Given the description of an element on the screen output the (x, y) to click on. 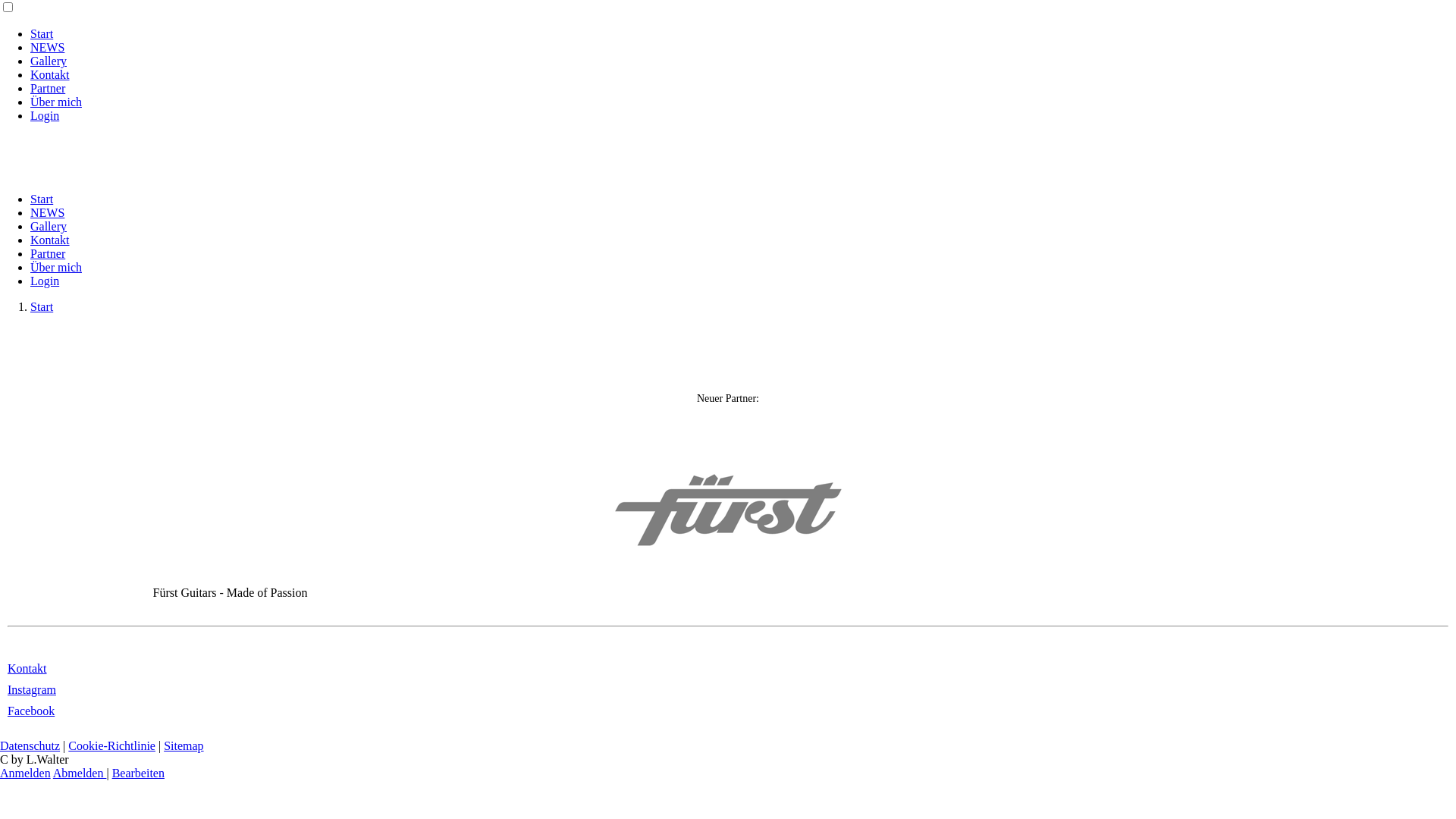
Abmelden Element type: text (79, 772)
Kontakt Element type: text (27, 668)
Login Element type: text (44, 115)
Login Element type: text (44, 280)
Kontakt Element type: text (49, 74)
Start Element type: text (41, 306)
Datenschutz Element type: text (29, 745)
Start Element type: text (41, 198)
Gallery Element type: text (48, 60)
Gallery Element type: text (48, 225)
NEWS Element type: text (47, 46)
Partner Element type: text (47, 253)
NEWS Element type: text (47, 212)
Partner Element type: text (47, 87)
Start Element type: text (41, 33)
Kontakt Element type: text (49, 239)
Cookie-Richtlinie Element type: text (111, 745)
Bearbeiten Element type: text (138, 772)
Instagram Element type: text (31, 689)
Sitemap Element type: text (183, 745)
Facebook Element type: text (30, 710)
Anmelden Element type: text (25, 772)
